Given the description of an element on the screen output the (x, y) to click on. 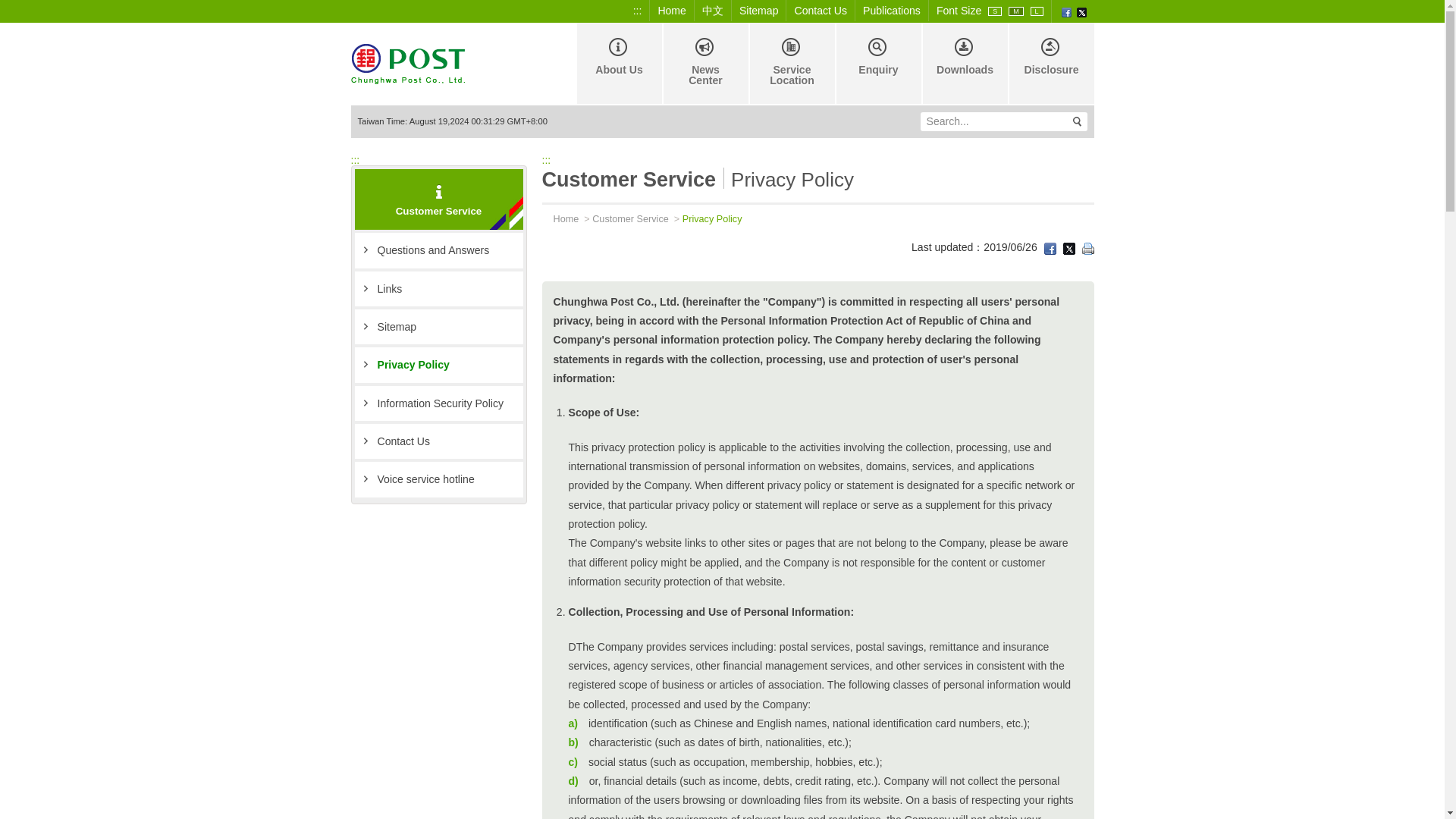
L (1036, 10)
Voice service hotline (438, 478)
Contact Us (438, 441)
About Us (618, 63)
Downloads (963, 63)
Links (438, 288)
Home (559, 218)
Publications (891, 10)
News Center (704, 63)
Sitemap (758, 10)
